Given the description of an element on the screen output the (x, y) to click on. 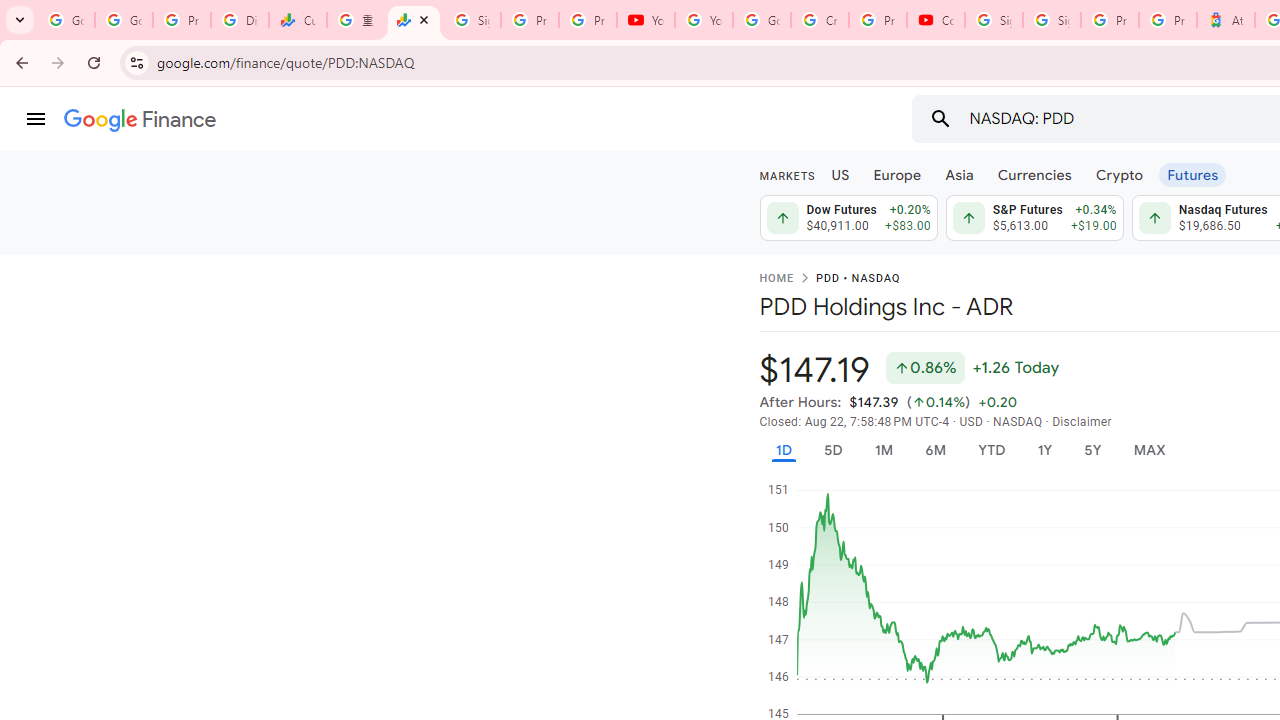
View site information (136, 62)
US (840, 174)
Google Workspace Admin Community (65, 20)
Disclaimer (1082, 421)
Content Creator Programs & Opportunities - YouTube Creators (936, 20)
Futures (1192, 174)
